Given the description of an element on the screen output the (x, y) to click on. 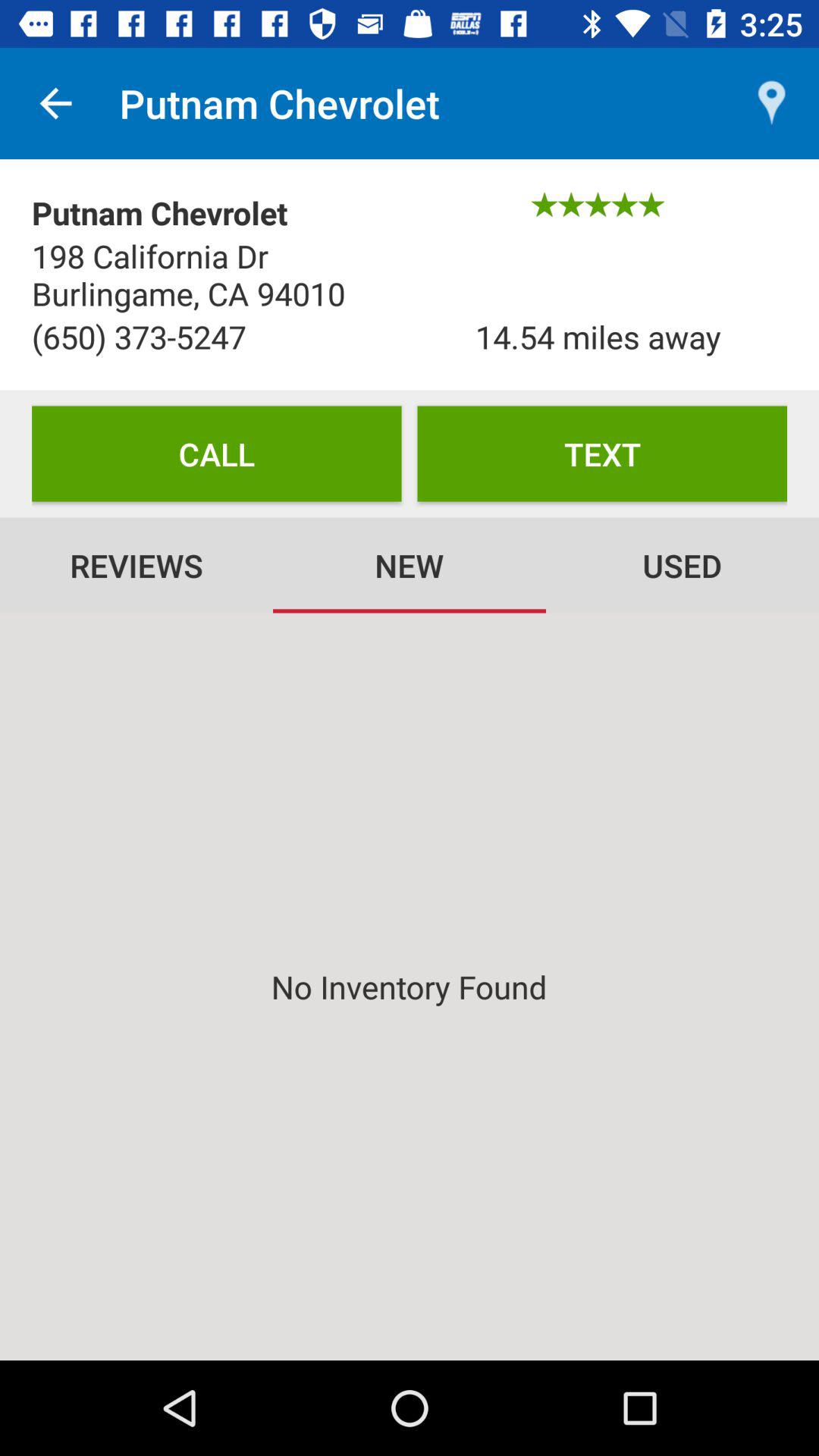
select the text item (602, 453)
